Given the description of an element on the screen output the (x, y) to click on. 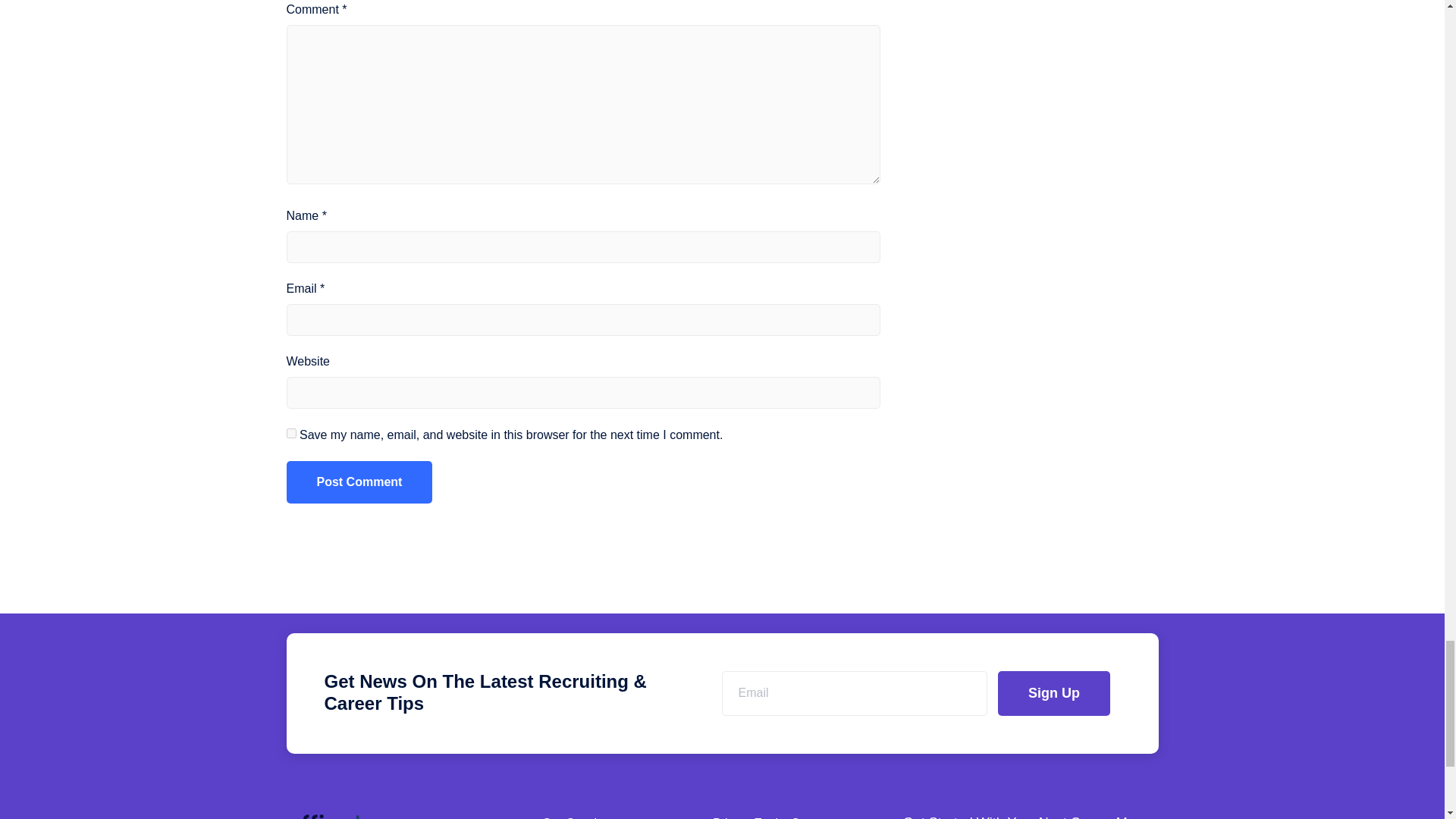
yes (291, 433)
Post Comment (359, 482)
